Given the description of an element on the screen output the (x, y) to click on. 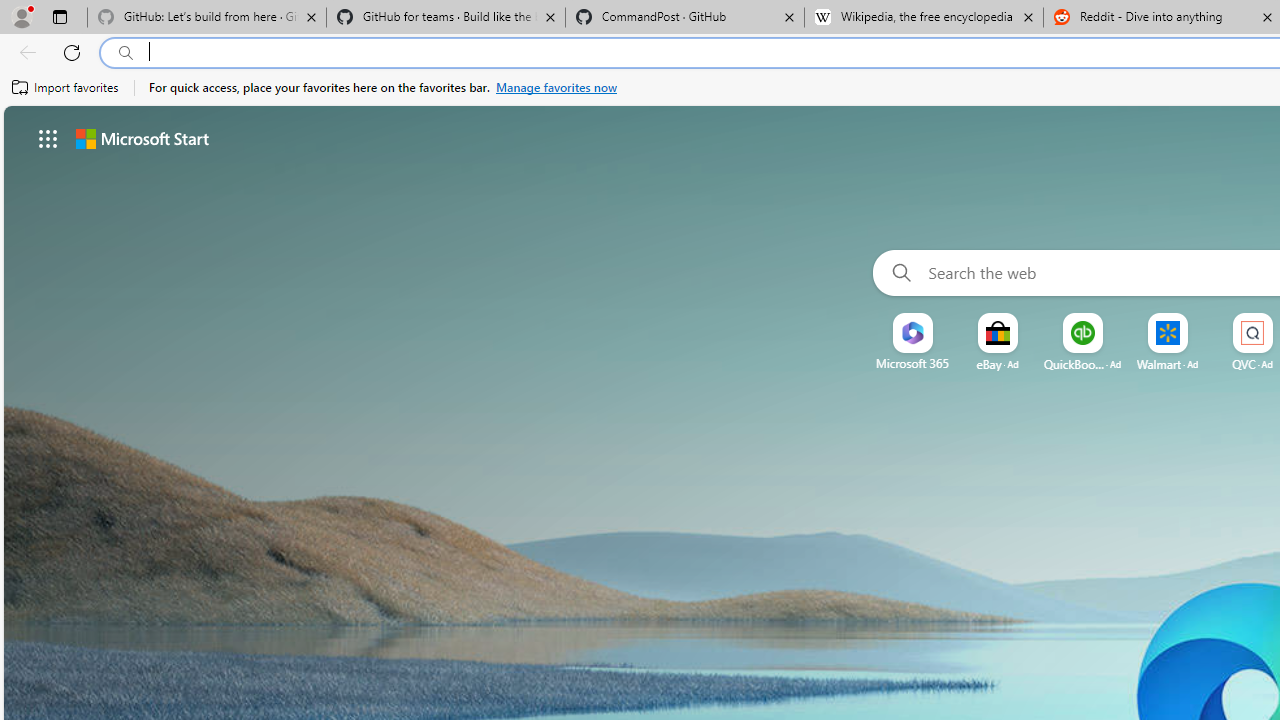
Wikipedia, the free encyclopedia (924, 17)
App launcher (47, 138)
Microsoft start (142, 138)
